Given the description of an element on the screen output the (x, y) to click on. 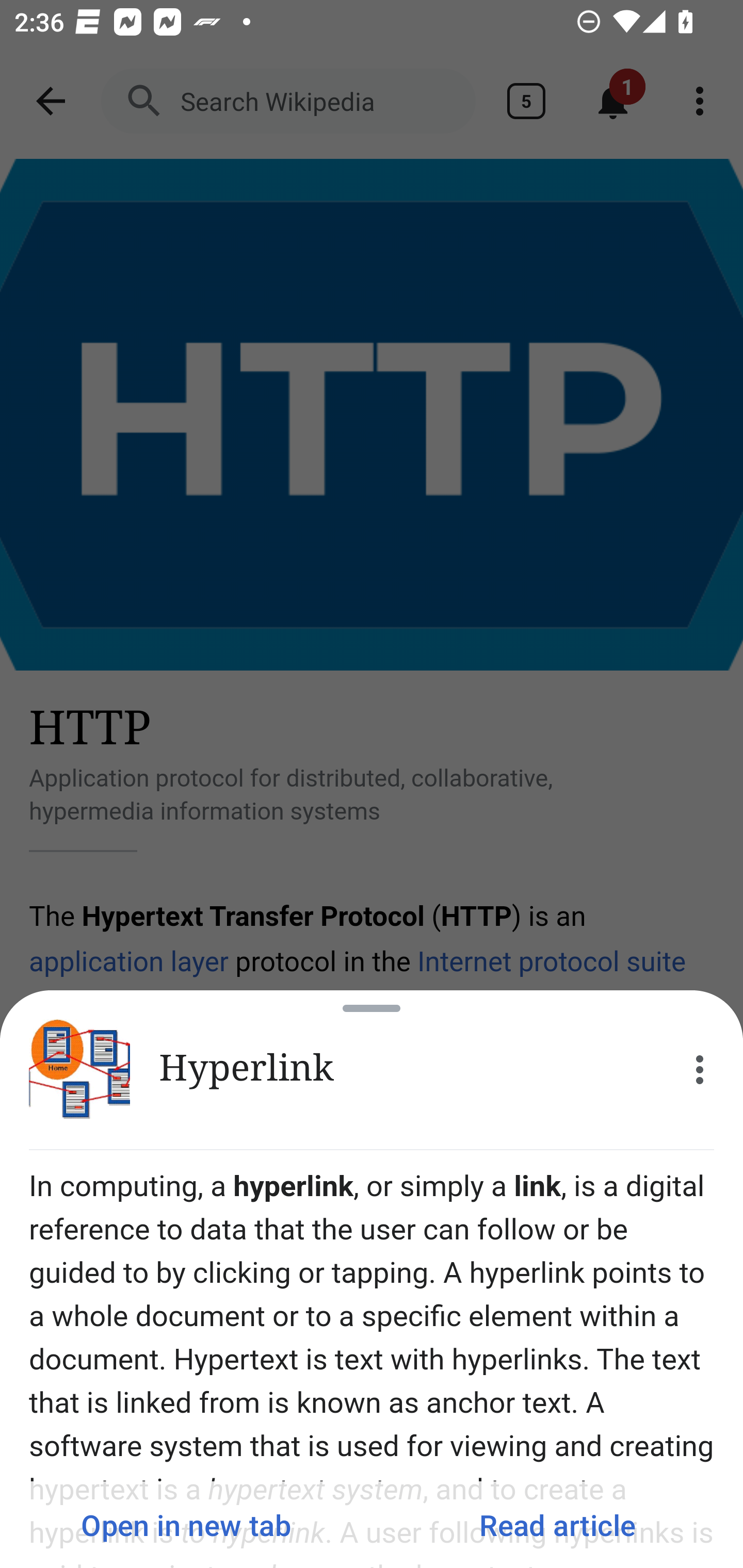
Hyperlink More options (371, 1069)
More options (699, 1070)
Open in new tab (185, 1524)
Read article (557, 1524)
